Given the description of an element on the screen output the (x, y) to click on. 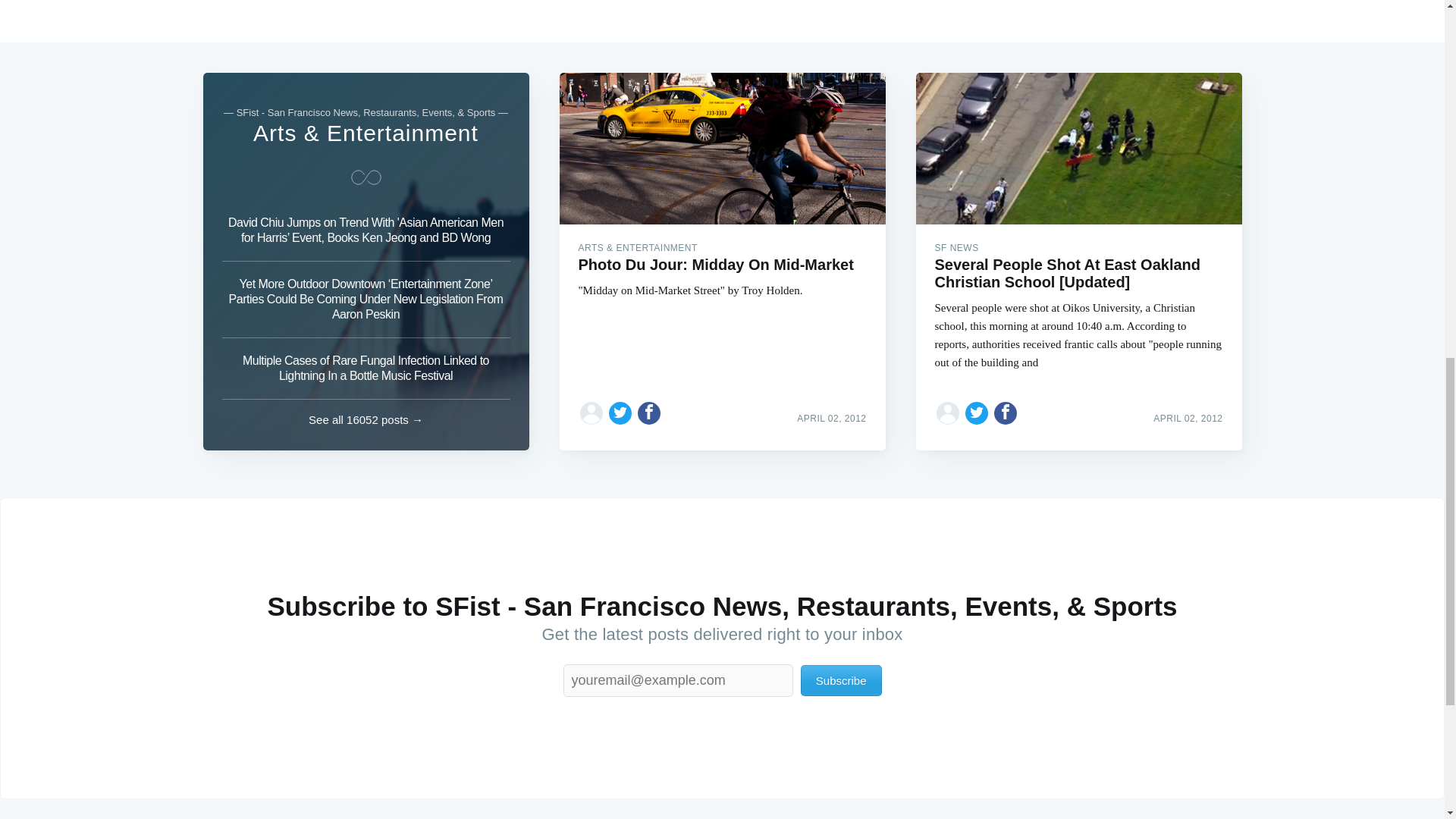
Subscribe (841, 680)
Share on Twitter (620, 412)
Share on Facebook (649, 412)
Share on Twitter (976, 412)
Share on Facebook (1004, 412)
